Given the description of an element on the screen output the (x, y) to click on. 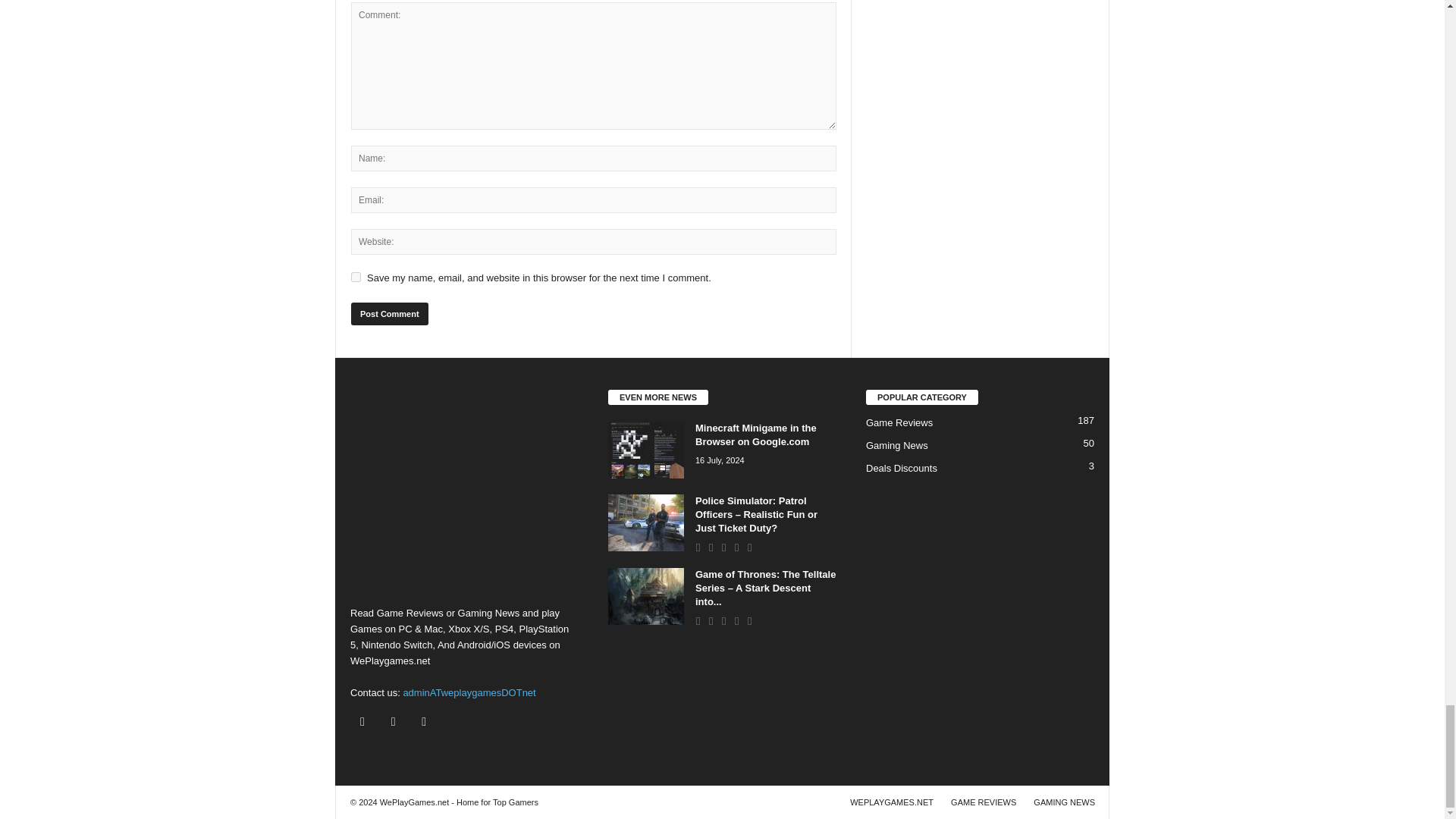
Post Comment (389, 313)
yes (355, 276)
